Given the description of an element on the screen output the (x, y) to click on. 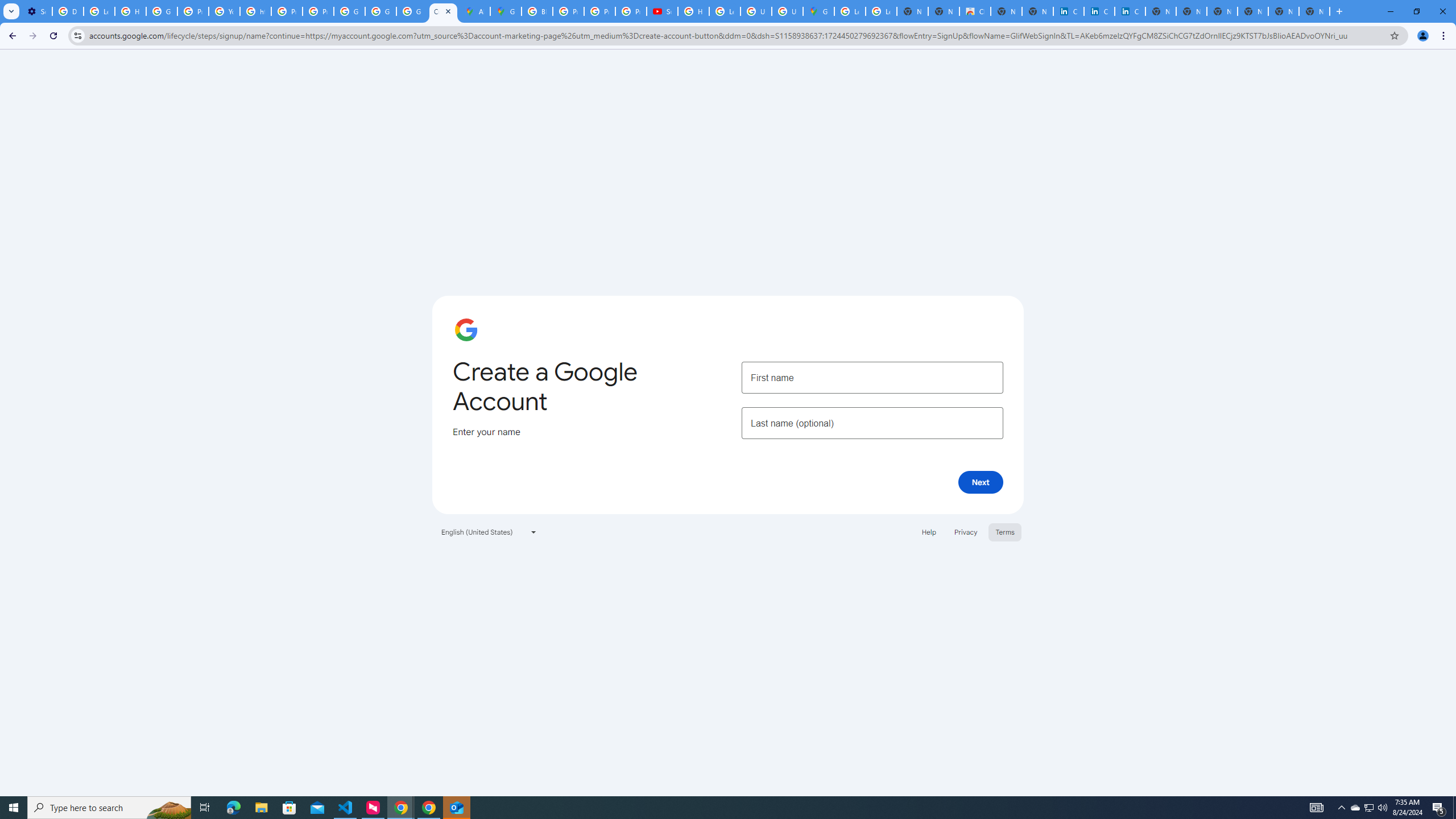
Cookie Policy | LinkedIn (1098, 11)
Help (928, 531)
Cookie Policy | LinkedIn (1068, 11)
New Tab (1252, 11)
Blogger Policies and Guidelines - Transparency Center (536, 11)
Subscriptions - YouTube (662, 11)
Google Account Help (161, 11)
